Given the description of an element on the screen output the (x, y) to click on. 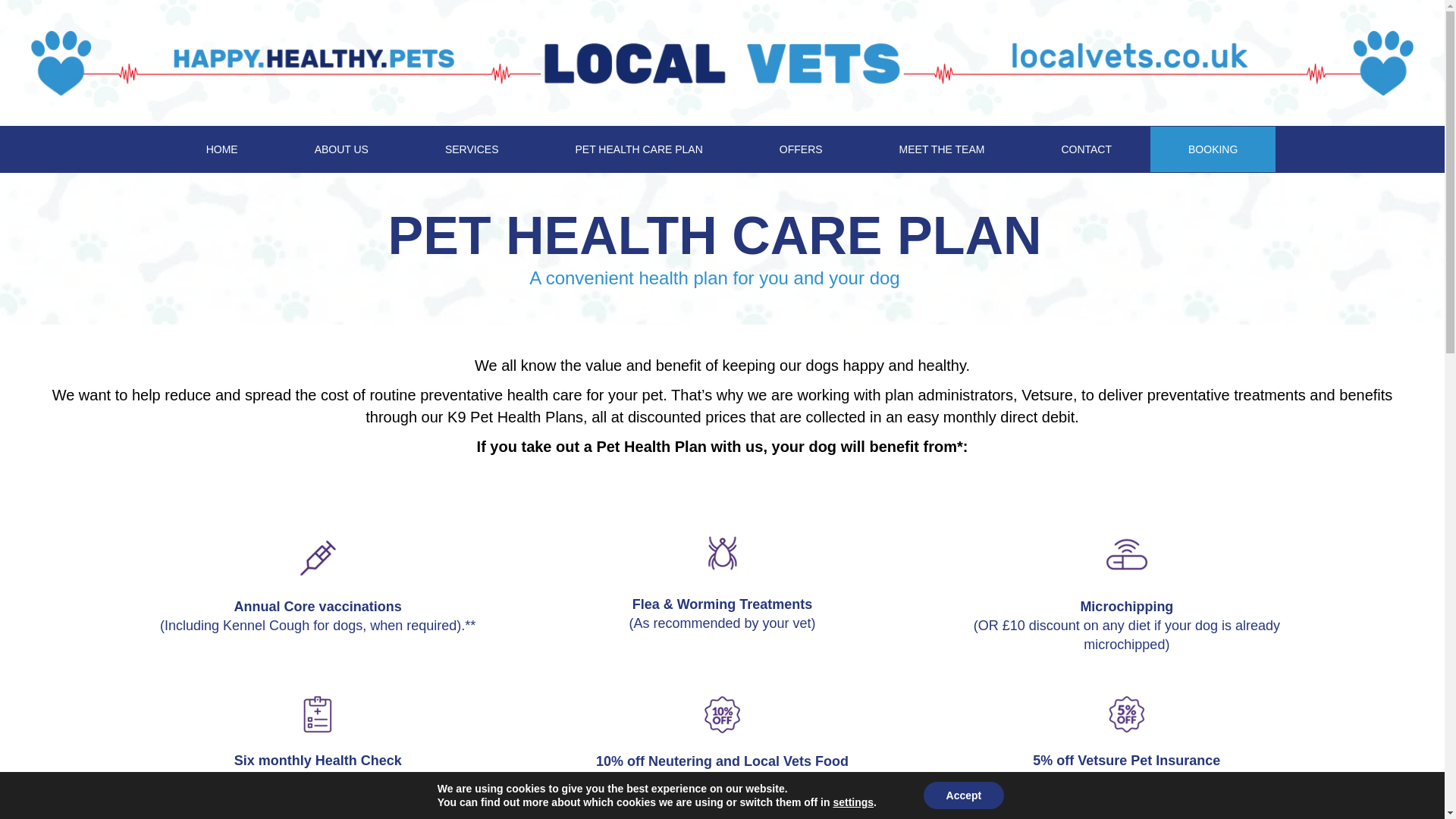
OFFERS (800, 148)
HOME (222, 148)
Microchipping (1126, 554)
Annual-Core-Vaccinations (317, 557)
Local Vets Entire Shop Banner (721, 62)
10-Off (722, 714)
5-Off (1126, 714)
Health-Check (317, 714)
PET HEALTH CARE PLAN (638, 148)
MEET THE TEAM (942, 148)
CONTACT (1086, 148)
SERVICES (472, 148)
ABOUT US (341, 148)
BOOKING (1212, 148)
